Given the description of an element on the screen output the (x, y) to click on. 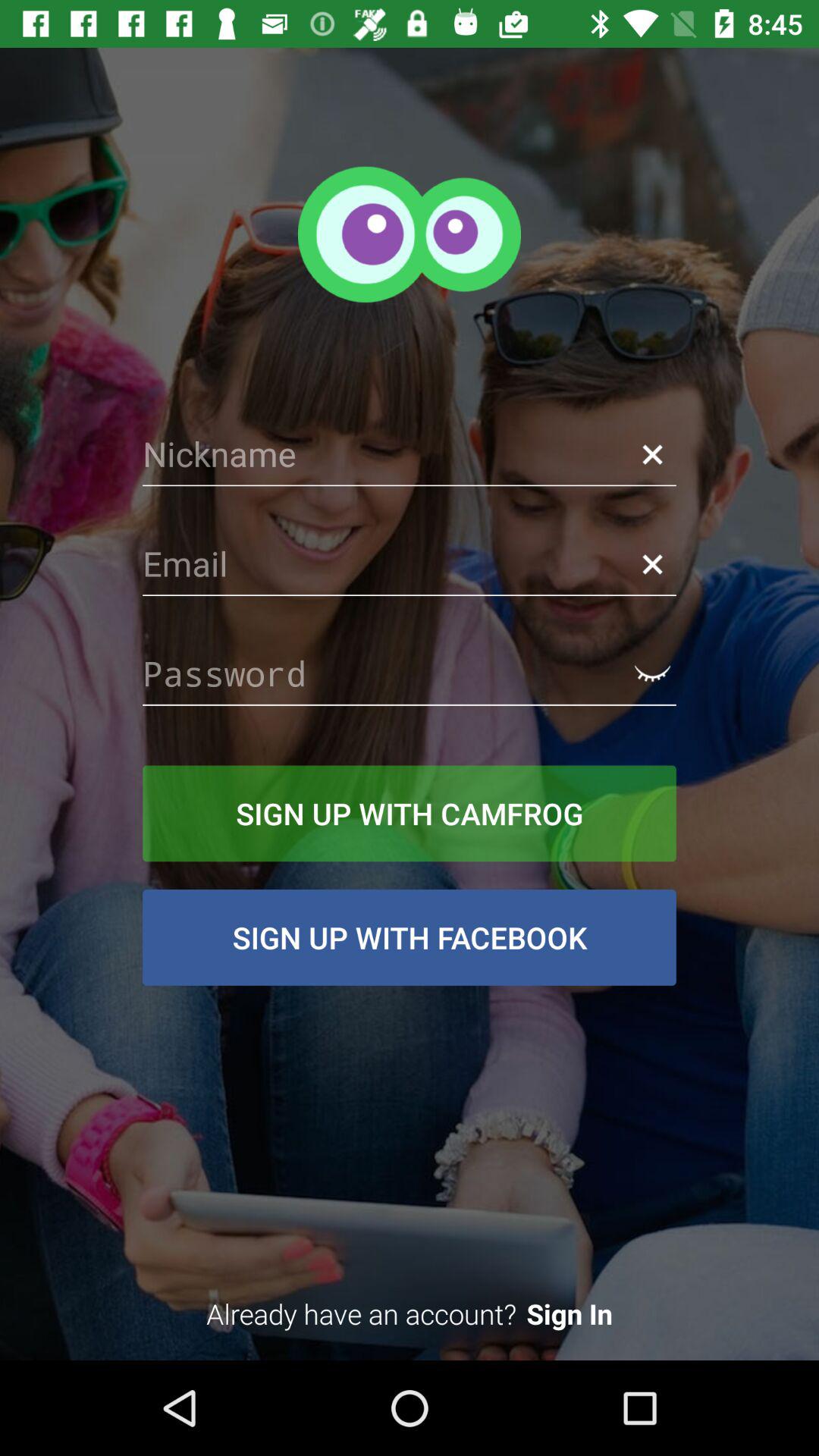
confirm password (652, 673)
